Given the description of an element on the screen output the (x, y) to click on. 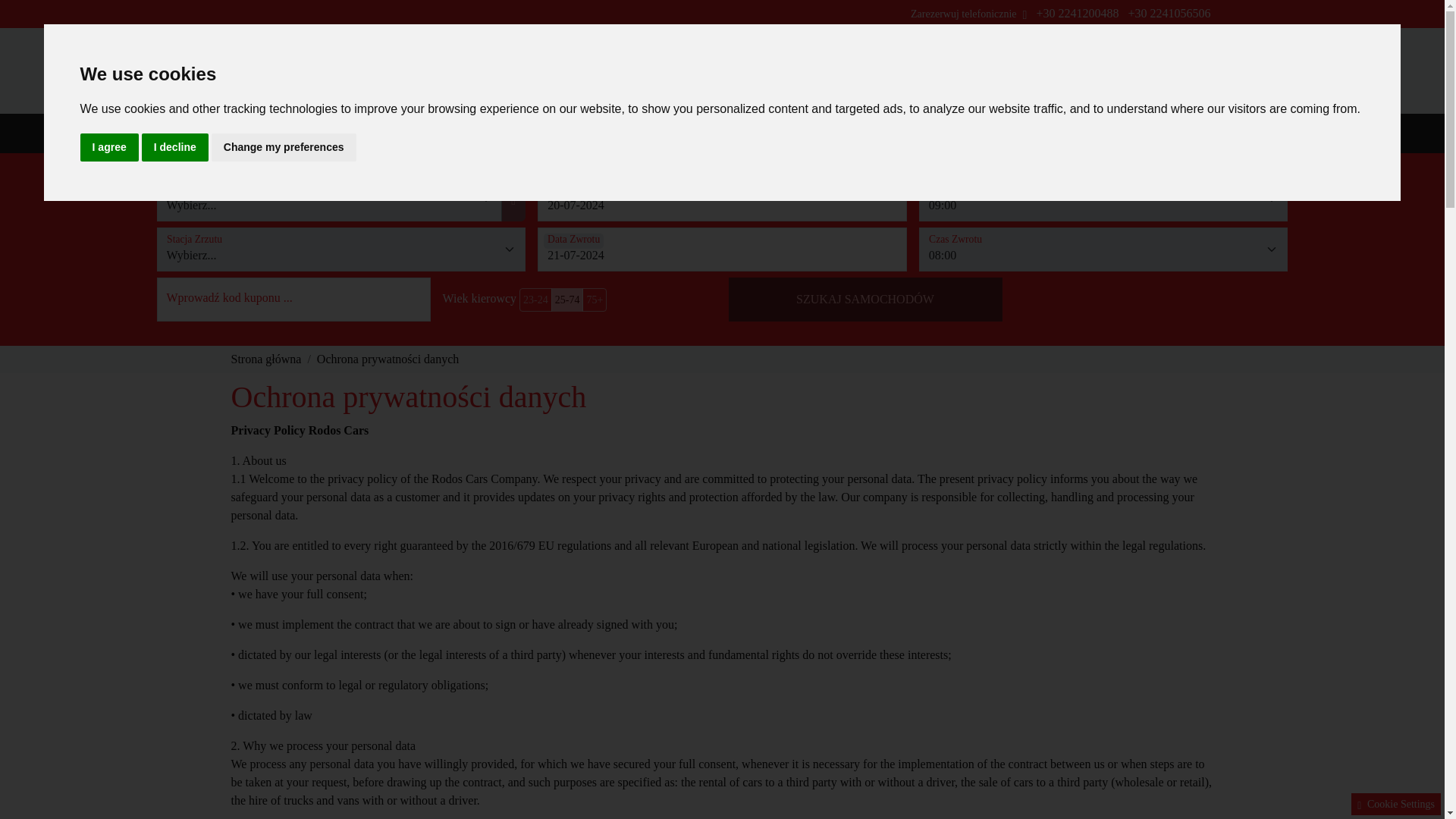
Flota (462, 133)
Moja rezerwacja (1083, 70)
BLOG (955, 133)
age3 (524, 293)
21-07-2024 (722, 249)
FLOTA (462, 133)
Moja rezerwacja (1083, 70)
20-07-2024 (722, 199)
FAQ (1004, 133)
age2 (524, 293)
PL (1008, 70)
TRANSFERY (696, 133)
STACJE (396, 133)
age1 (524, 293)
Stacje (396, 133)
